Given the description of an element on the screen output the (x, y) to click on. 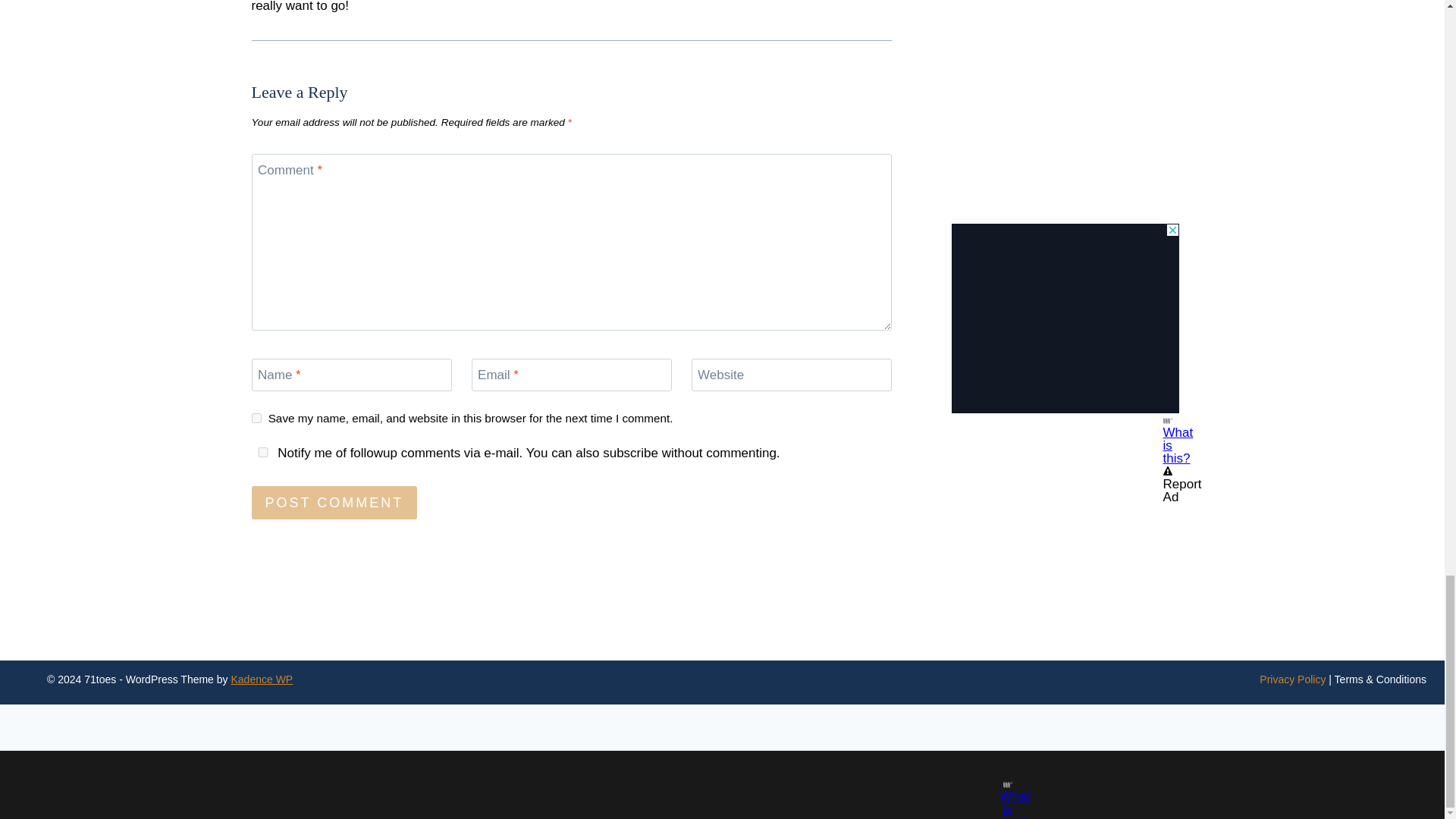
yes (263, 452)
Post Comment (334, 502)
yes (256, 418)
